Given the description of an element on the screen output the (x, y) to click on. 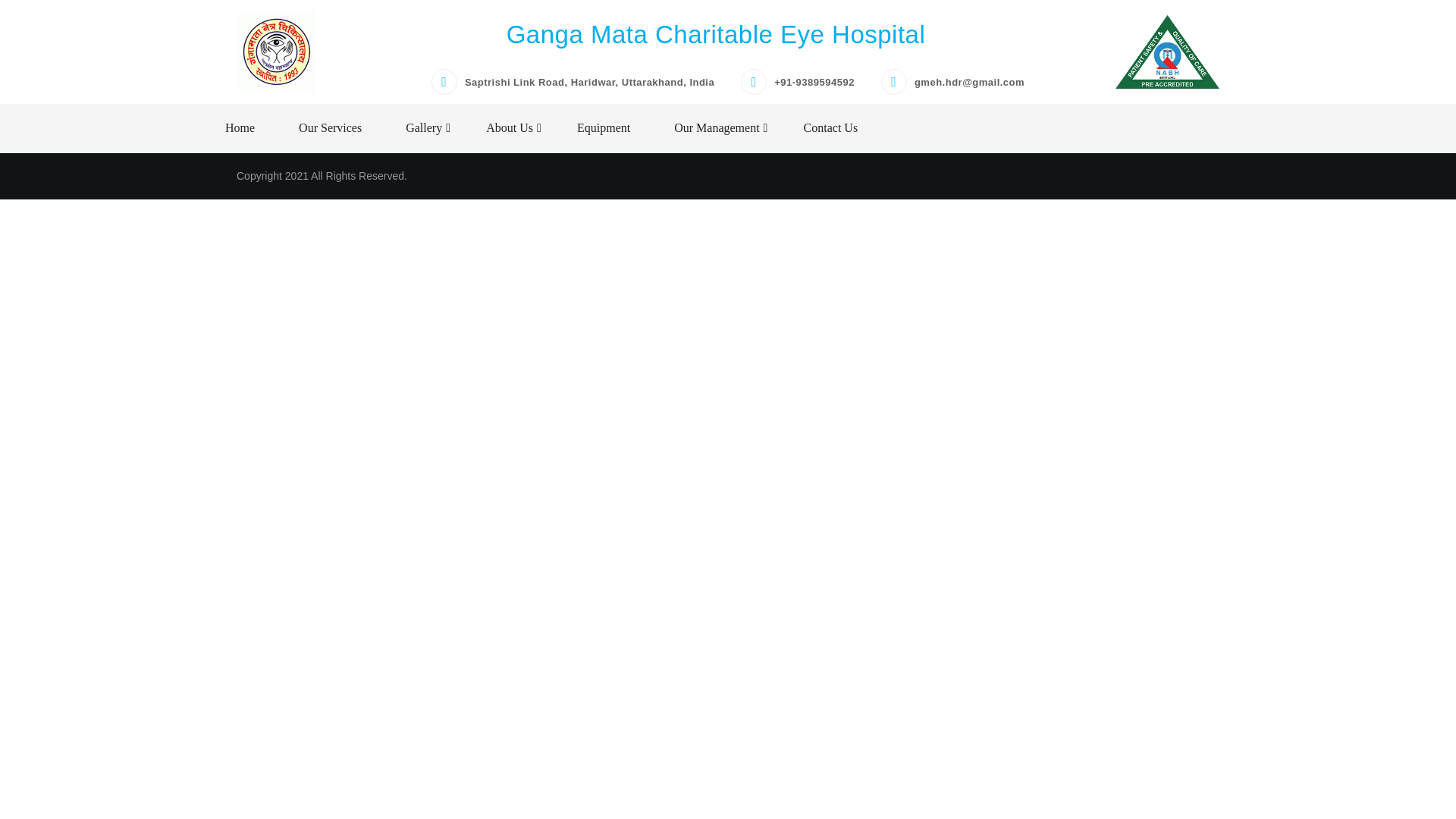
Home (239, 127)
About Us (509, 127)
Our Services (329, 127)
Our Management (716, 127)
Saptrishi Link Road, Haridwar, Uttarakhand, India (589, 81)
Gallery (424, 127)
Contact Us (831, 127)
Equipment (603, 127)
